Given the description of an element on the screen output the (x, y) to click on. 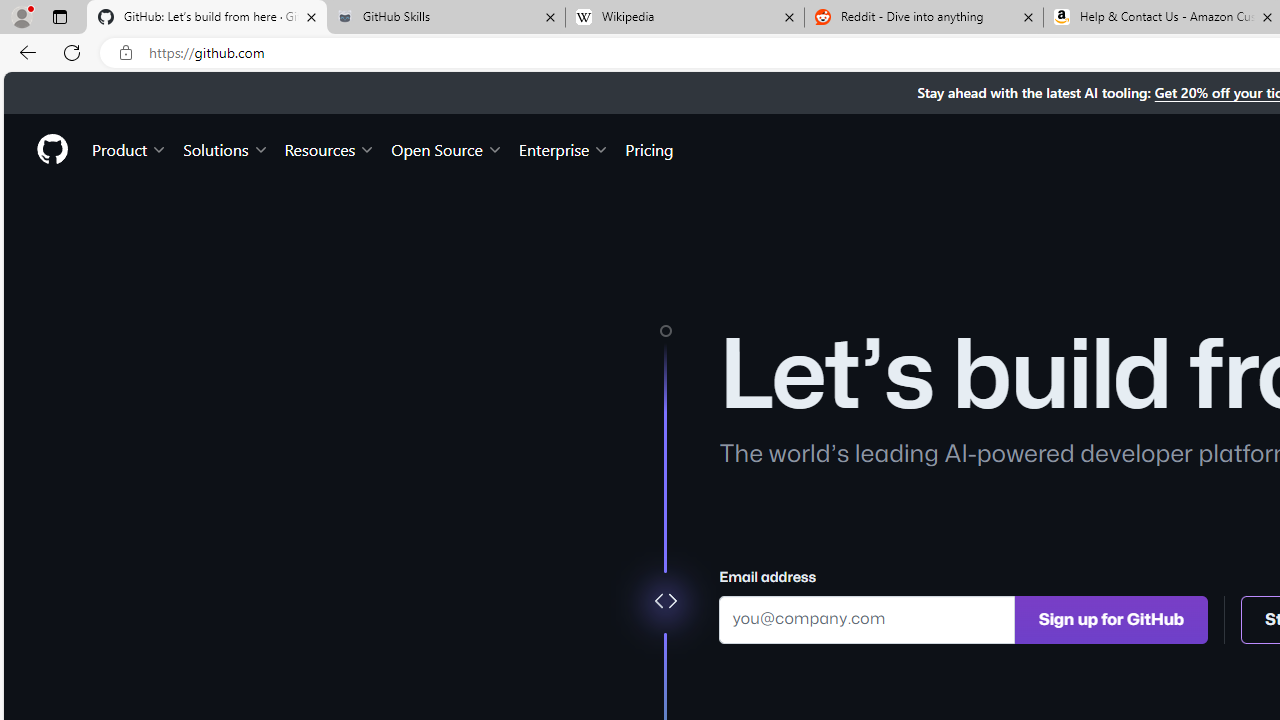
Sign up for GitHub (1111, 618)
View site information (125, 53)
Resources (330, 148)
Resources (330, 148)
Close tab (1267, 16)
Solutions (225, 148)
Solutions (225, 148)
Open Source (446, 148)
Refresh (72, 52)
Pricing (649, 148)
GitHub Skills (445, 17)
Product (130, 148)
Tab actions menu (59, 16)
Email address (867, 618)
